Given the description of an element on the screen output the (x, y) to click on. 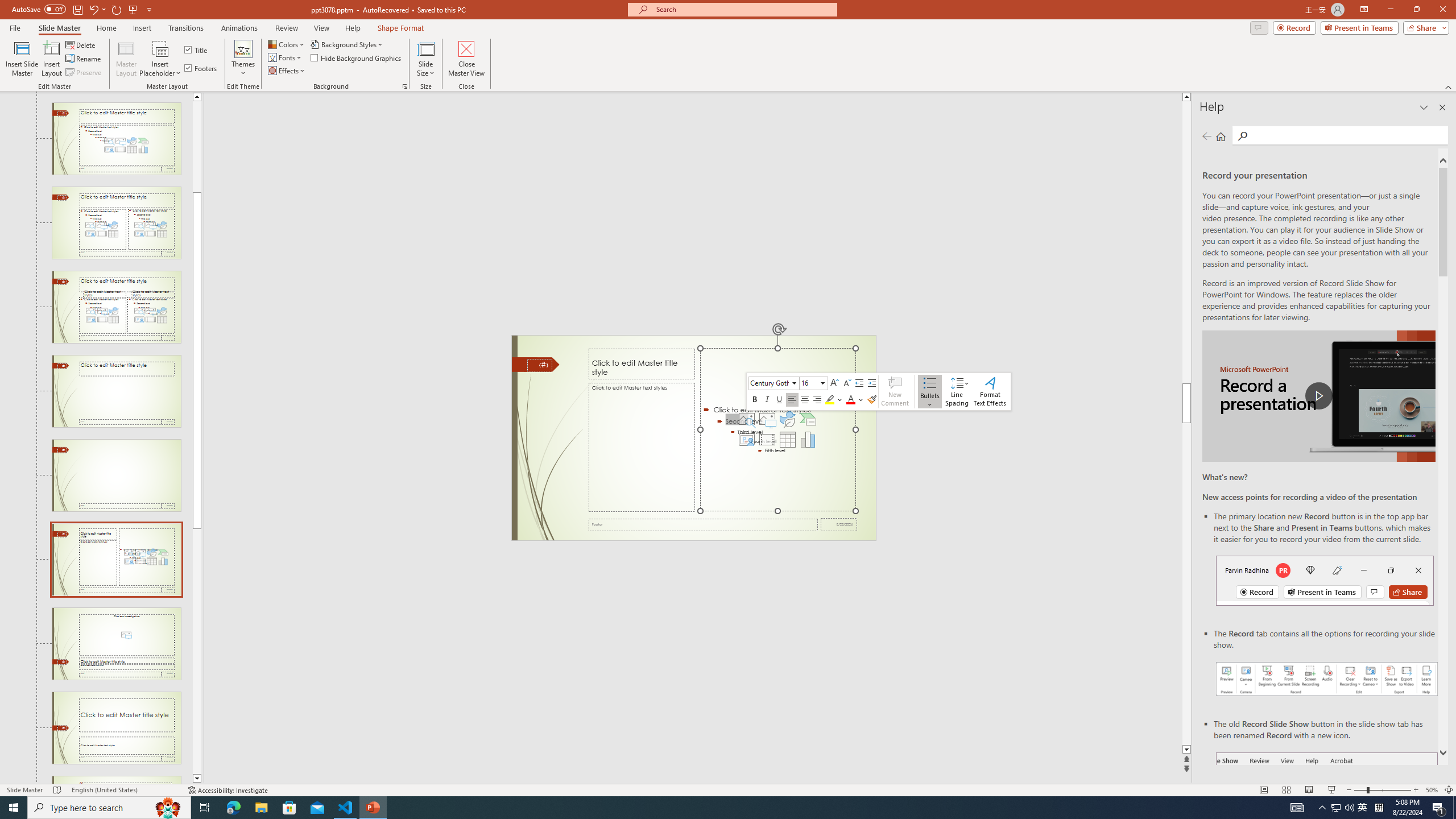
Insert Video (767, 439)
Slide Quote with Caption Layout: used by no slides (116, 779)
Slide Blank Layout: used by no slides (116, 475)
Title (196, 49)
Close Master View (466, 58)
New Comment (895, 391)
Date (839, 524)
